Given the description of an element on the screen output the (x, y) to click on. 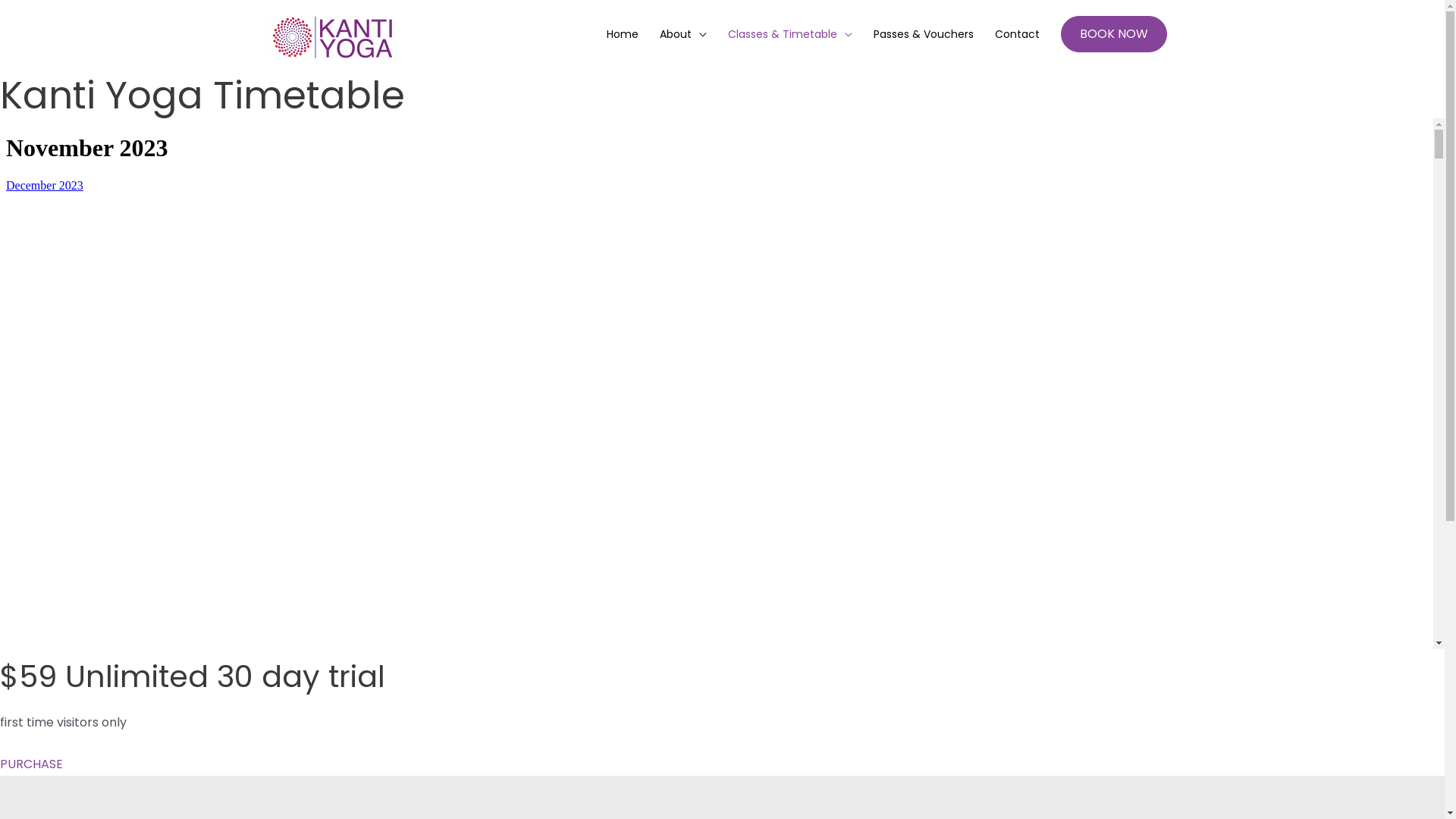
Passes & Vouchers Element type: text (923, 33)
BOOK NOW Element type: text (1113, 33)
BOOK NOW Element type: text (1113, 33)
Classes & Timetable Element type: text (789, 33)
About Element type: text (683, 33)
Home Element type: text (622, 33)
Contact Element type: text (1017, 33)
PURCHASE Element type: text (31, 763)
